Given the description of an element on the screen output the (x, y) to click on. 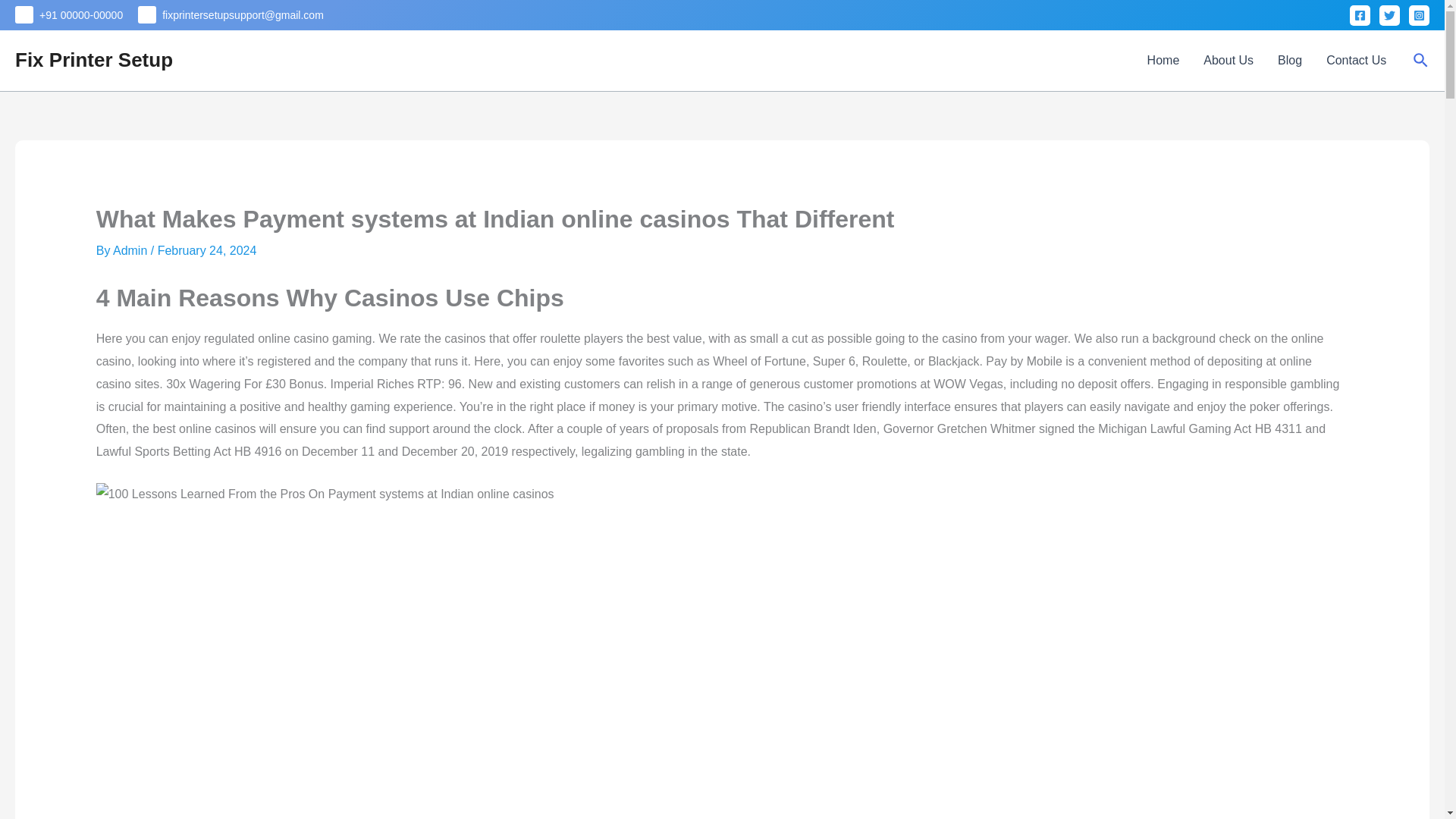
Admin (132, 250)
About Us (1228, 60)
Contact Us (1355, 60)
Fix Printer Setup (93, 59)
View all posts by Admin (132, 250)
Home (1163, 60)
